Given the description of an element on the screen output the (x, y) to click on. 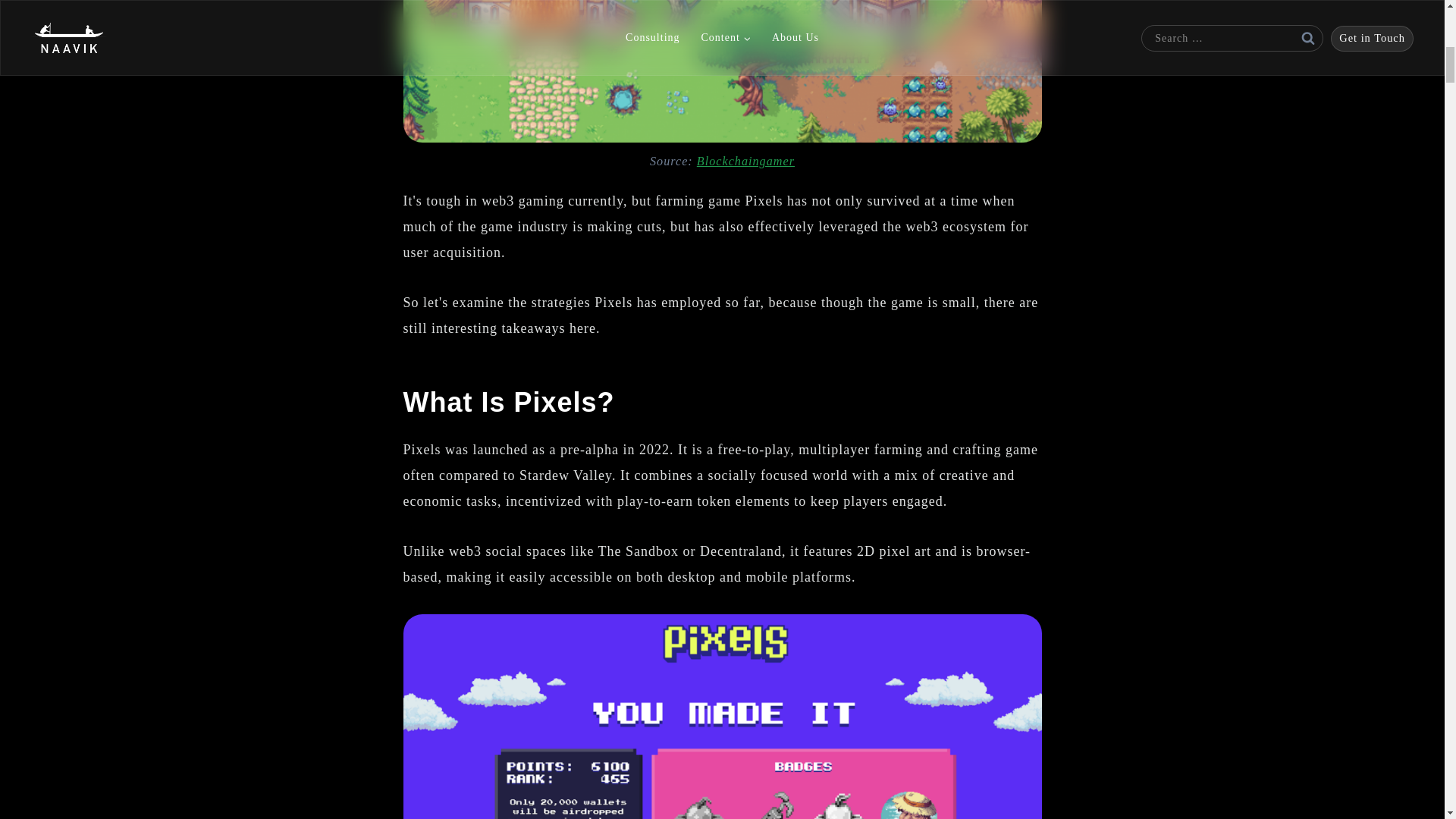
Blockchaingamer (745, 161)
